Given the description of an element on the screen output the (x, y) to click on. 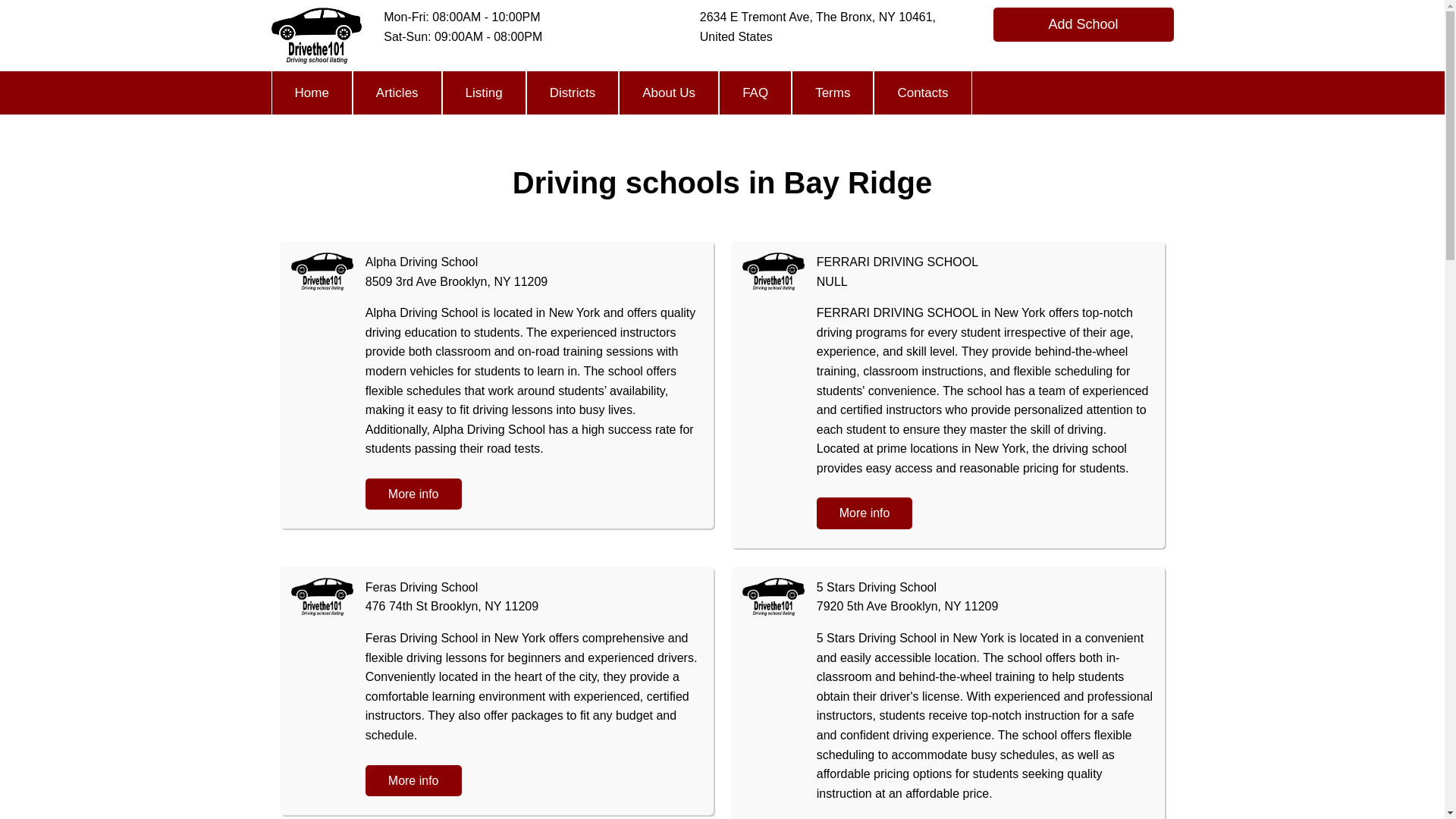
Districts (571, 92)
Terms (832, 92)
FAQ (755, 92)
More info (864, 513)
About Us (668, 92)
Add School (1082, 24)
Articles (397, 92)
Listing (483, 92)
More info (413, 780)
More info (413, 494)
